Given the description of an element on the screen output the (x, y) to click on. 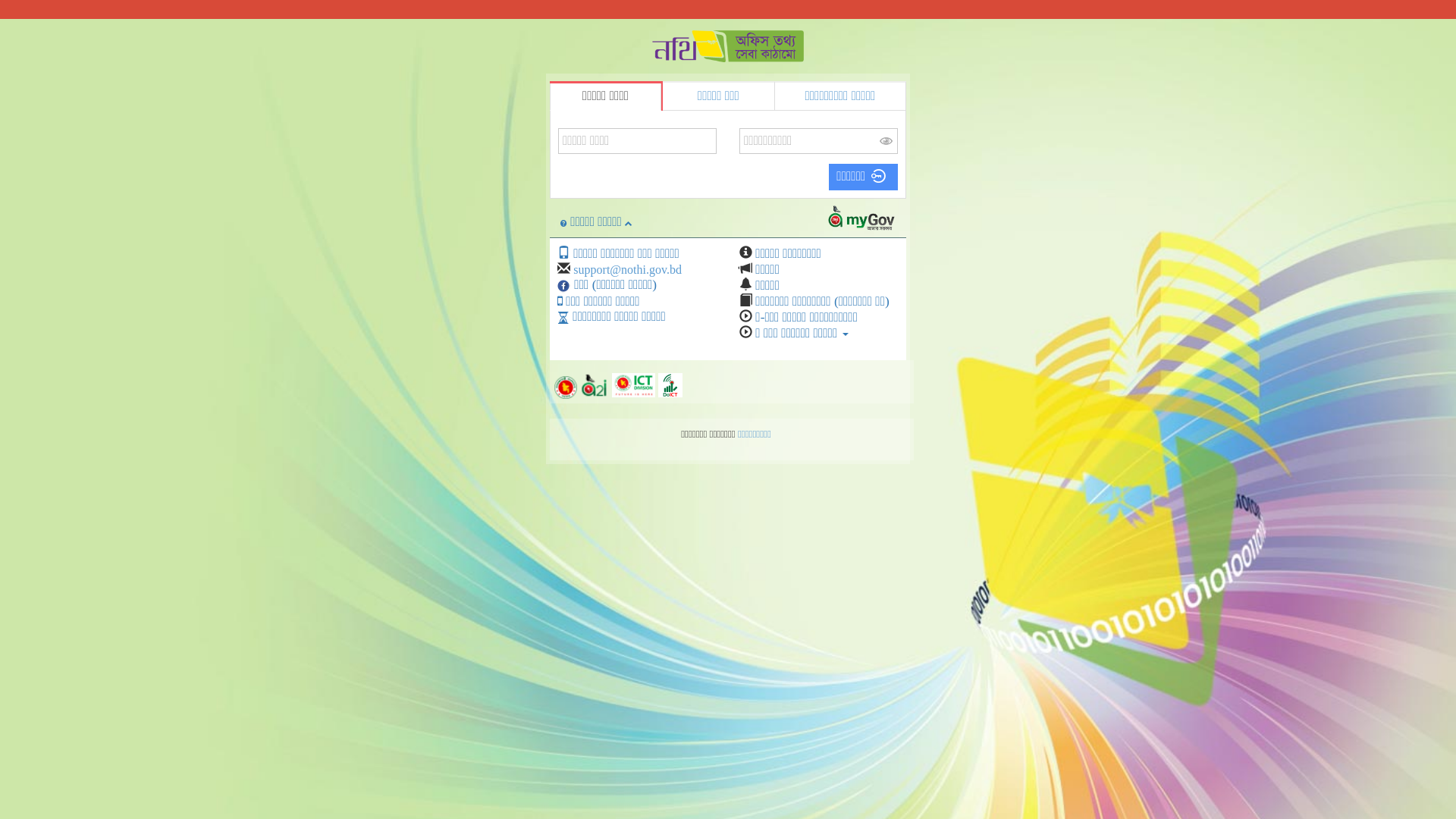
Aspire to Innovate (a2i) Element type: hover (595, 382)
support@nothi.gov.bd Element type: text (627, 269)
